Given the description of an element on the screen output the (x, y) to click on. 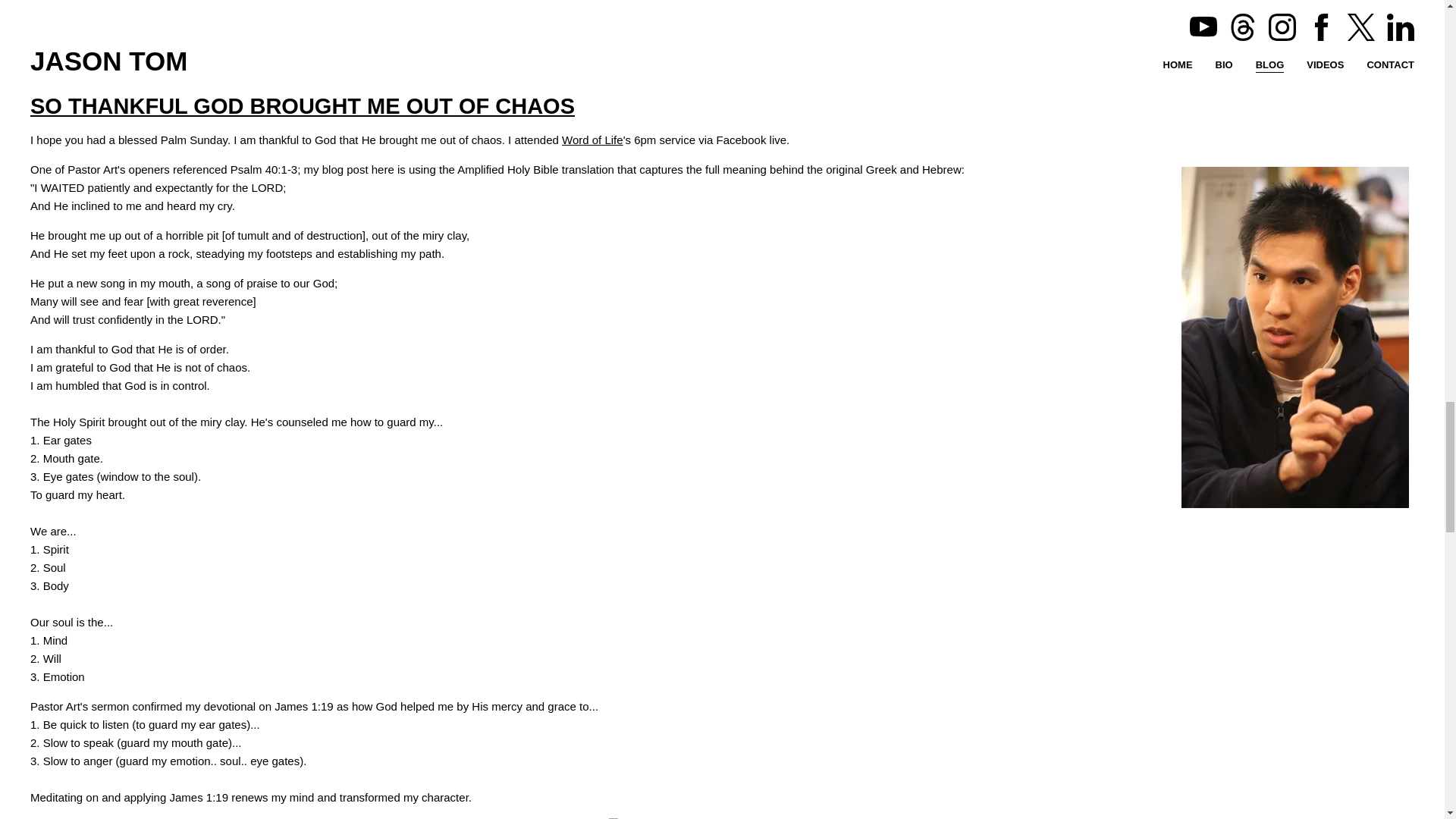
Share Five Months From Now (76, 38)
14 comments (111, 12)
